Given the description of an element on the screen output the (x, y) to click on. 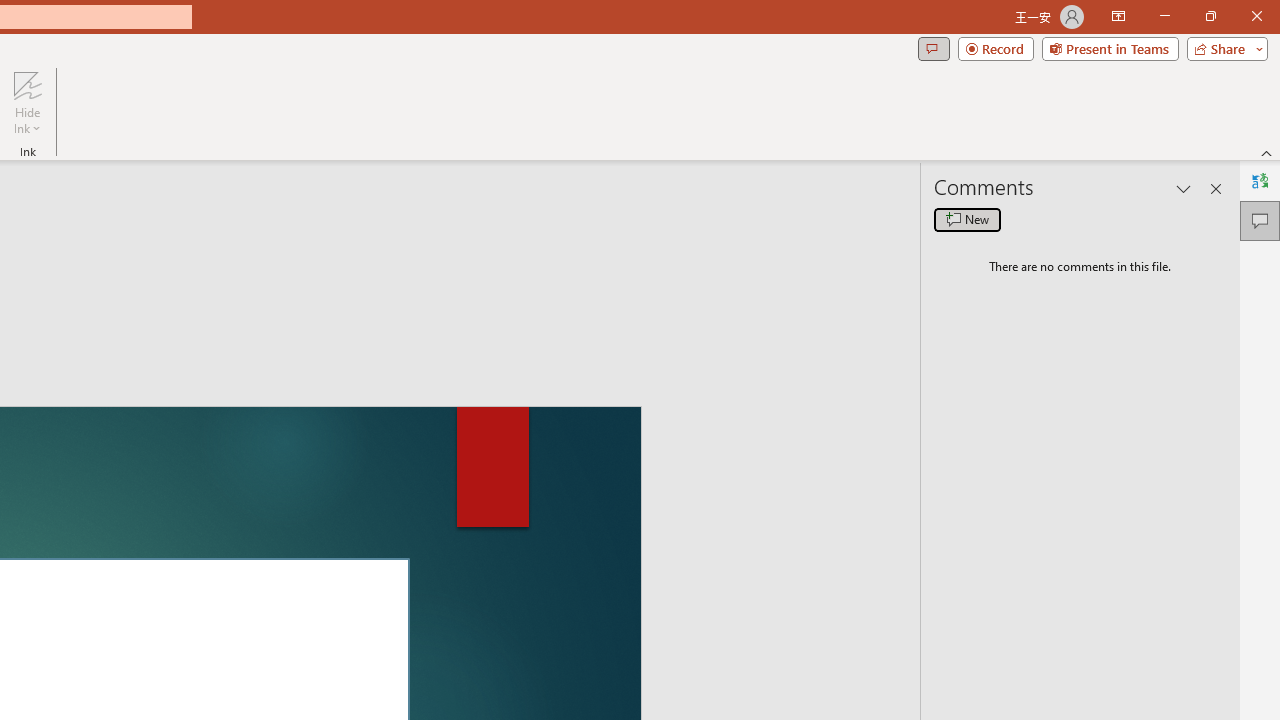
WordArt (472, 161)
Minimize (1099, 32)
Number... (971, 161)
Symbol (899, 161)
Restore Down (1172, 32)
Ribbon Display Options (1246, 220)
Mode (1083, 84)
Object... (640, 196)
Text Box (335, 161)
Footer (157, 161)
